Given the description of an element on the screen output the (x, y) to click on. 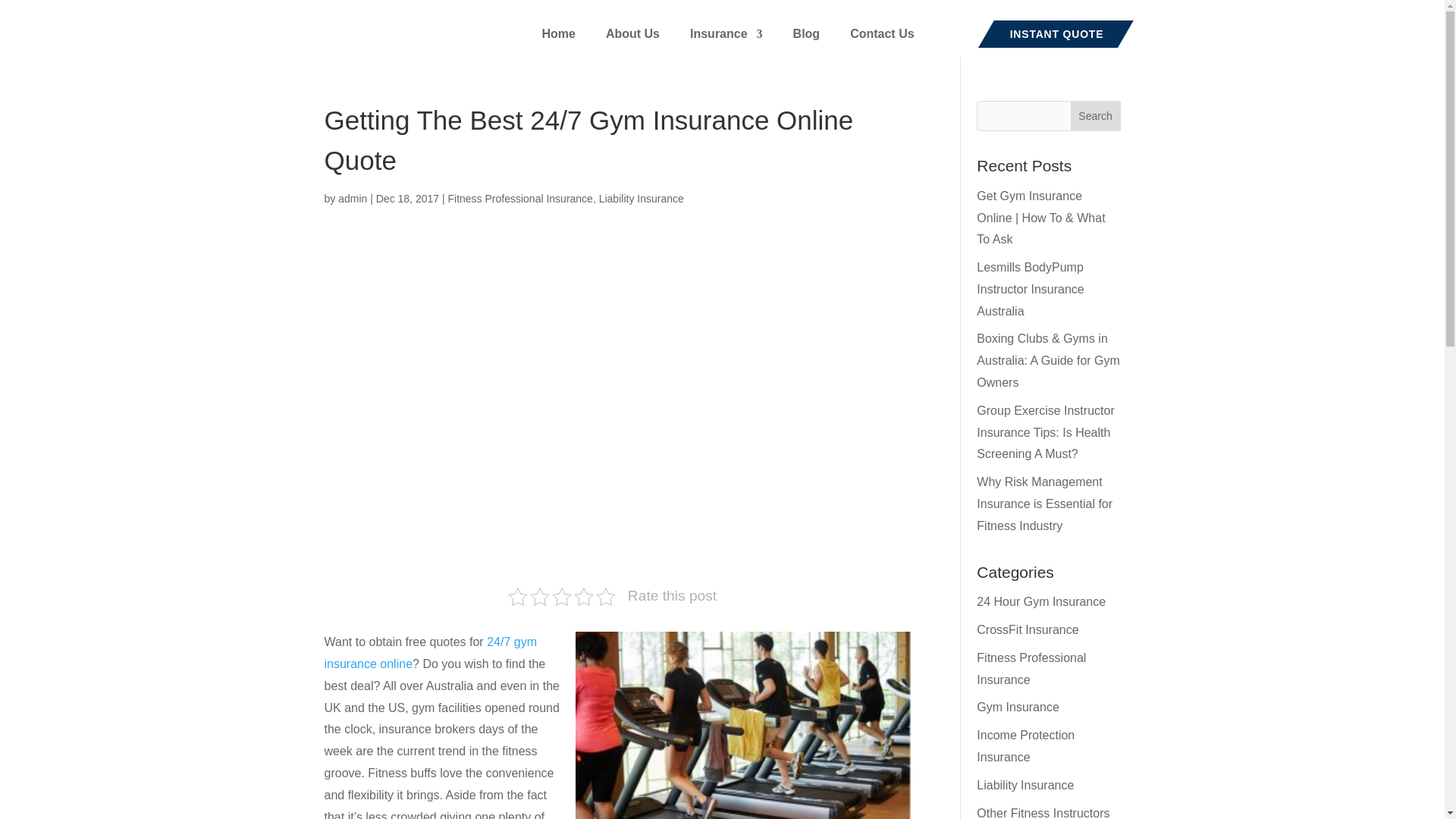
Blog (807, 36)
Lesmills BodyPump Instructor Insurance Australia (1029, 289)
Liability Insurance (641, 198)
Gym Insurance (1017, 707)
Insurance (726, 36)
INSTANT QUOTE (1056, 33)
admin (351, 198)
Posts by admin (351, 198)
